Given the description of an element on the screen output the (x, y) to click on. 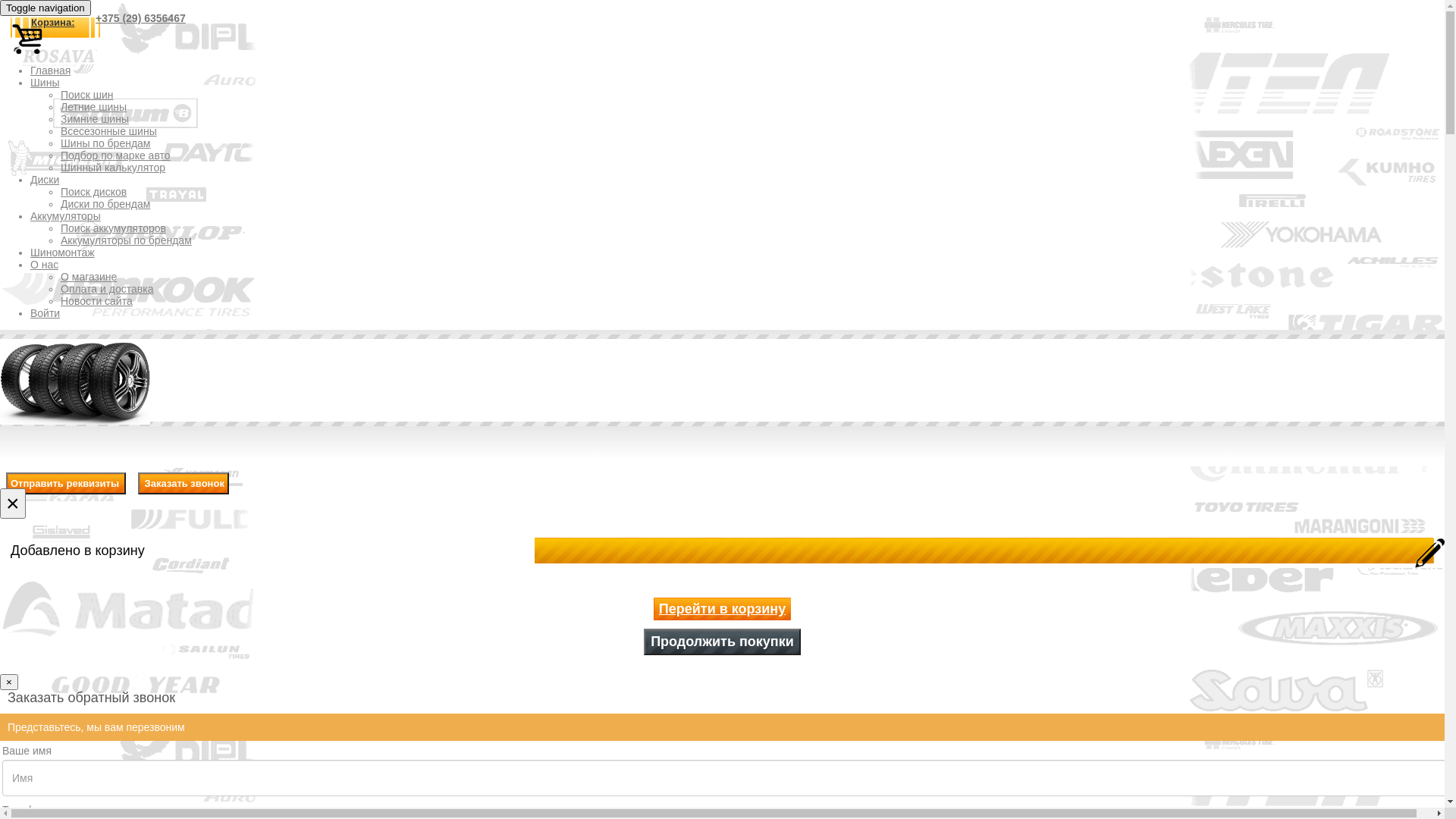
Toggle navigation Element type: text (45, 7)
+375 (29) 6356467 Element type: text (140, 18)
